Given the description of an element on the screen output the (x, y) to click on. 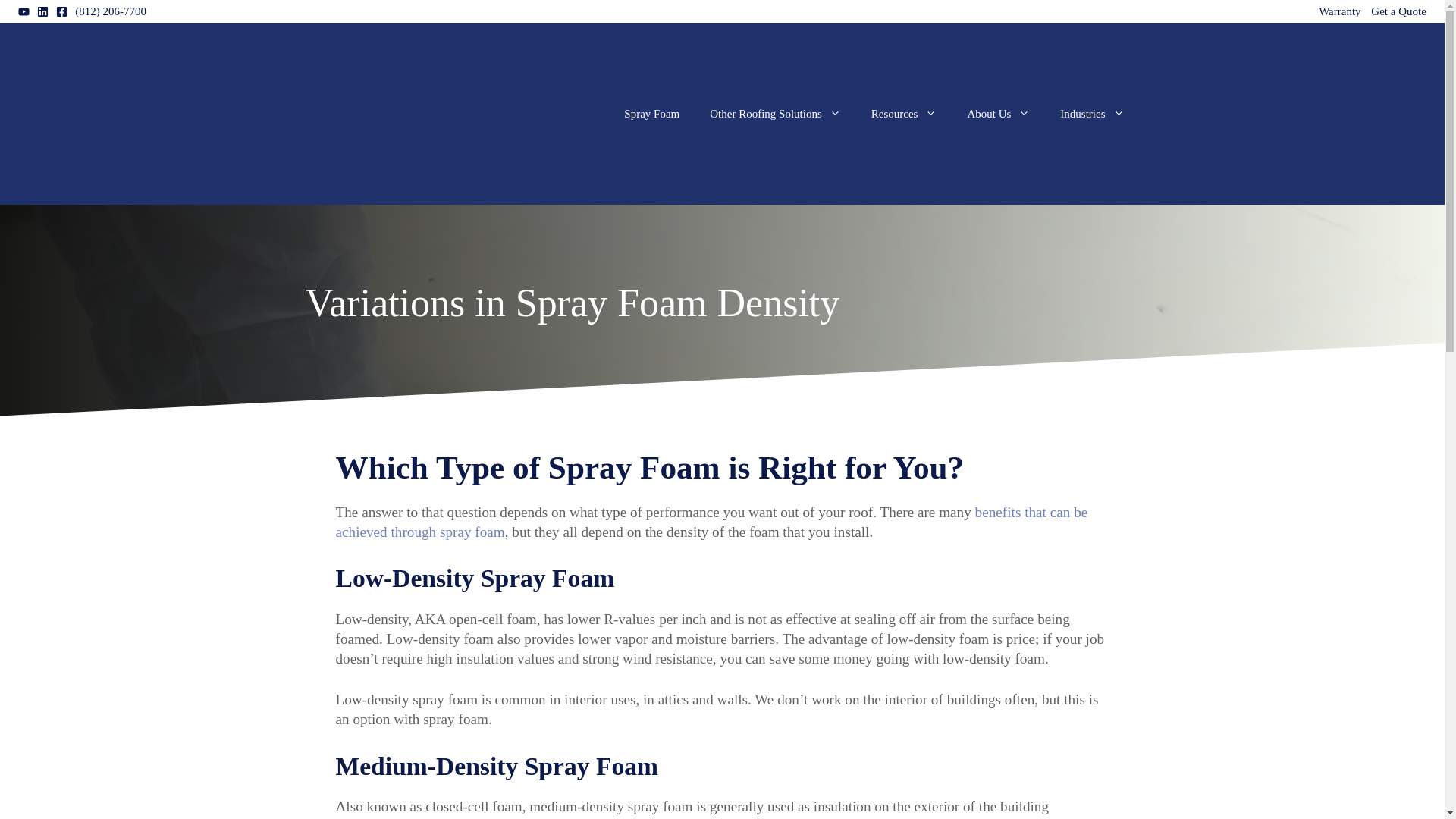
Spray Foam (651, 113)
benefits that can be achieved through spray foam (710, 521)
Get a Quote (1398, 11)
Other Roofing Solutions (775, 113)
Industries (1091, 113)
Resources (904, 113)
Warranty (1339, 11)
About Us (998, 113)
